Given the description of an element on the screen output the (x, y) to click on. 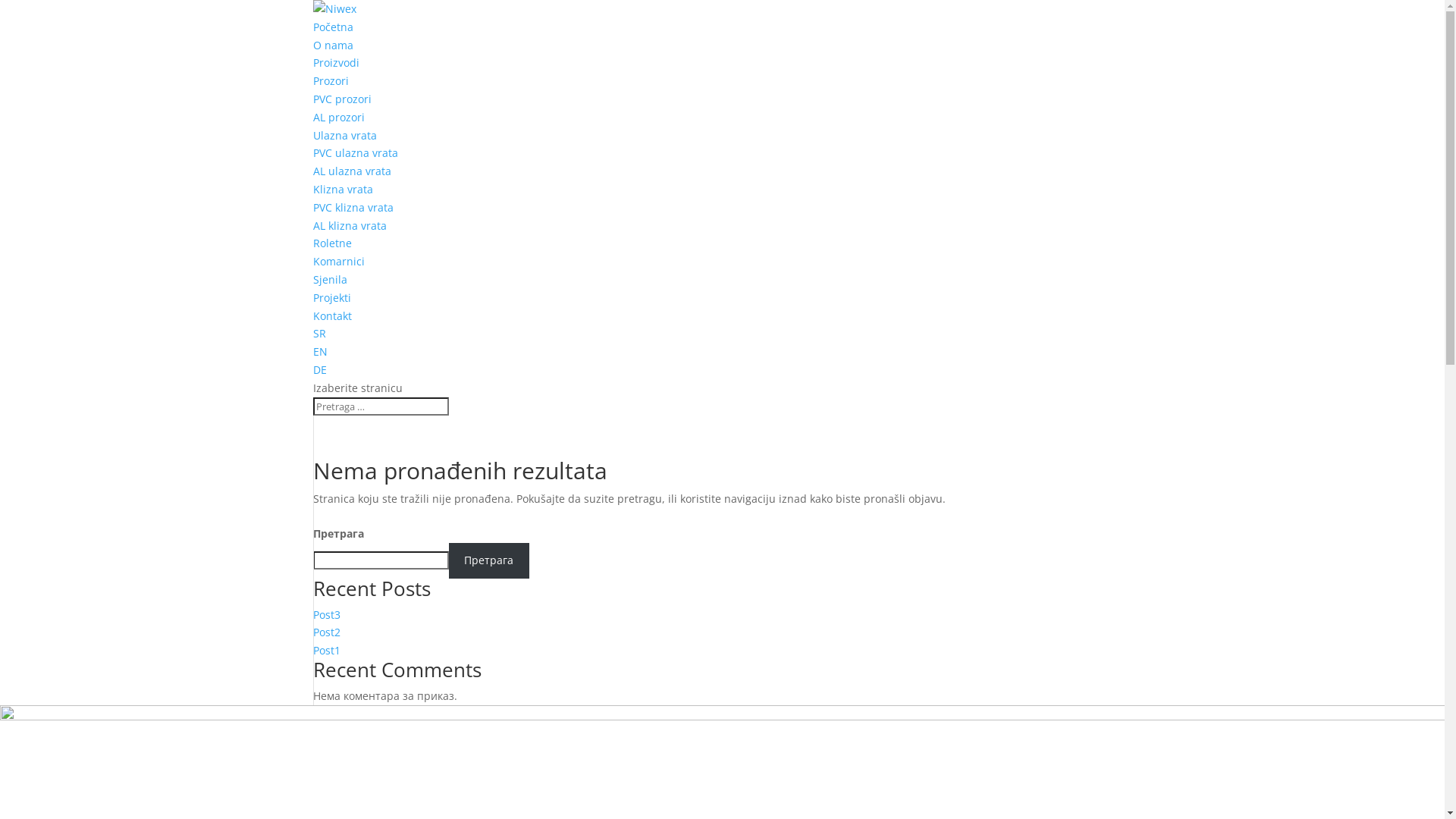
Post1 Element type: text (325, 650)
SR Element type: text (318, 333)
Projekti Element type: text (331, 297)
PVC ulazna vrata Element type: text (354, 152)
Roletne Element type: text (331, 242)
DE Element type: text (319, 369)
Sjenila Element type: text (329, 279)
AL klizna vrata Element type: text (348, 225)
Klizna vrata Element type: text (342, 189)
Prozori Element type: text (330, 80)
PVC prozori Element type: text (341, 98)
Post2 Element type: text (325, 631)
PVC klizna vrata Element type: text (352, 207)
AL prozori Element type: text (338, 116)
Kontakt Element type: text (331, 315)
Ulazna vrata Element type: text (344, 135)
Proizvodi Element type: text (335, 62)
EN Element type: text (319, 351)
Komarnici Element type: text (338, 261)
Post3 Element type: text (325, 614)
AL ulazna vrata Element type: text (351, 170)
O nama Element type: text (332, 44)
